Given the description of an element on the screen output the (x, y) to click on. 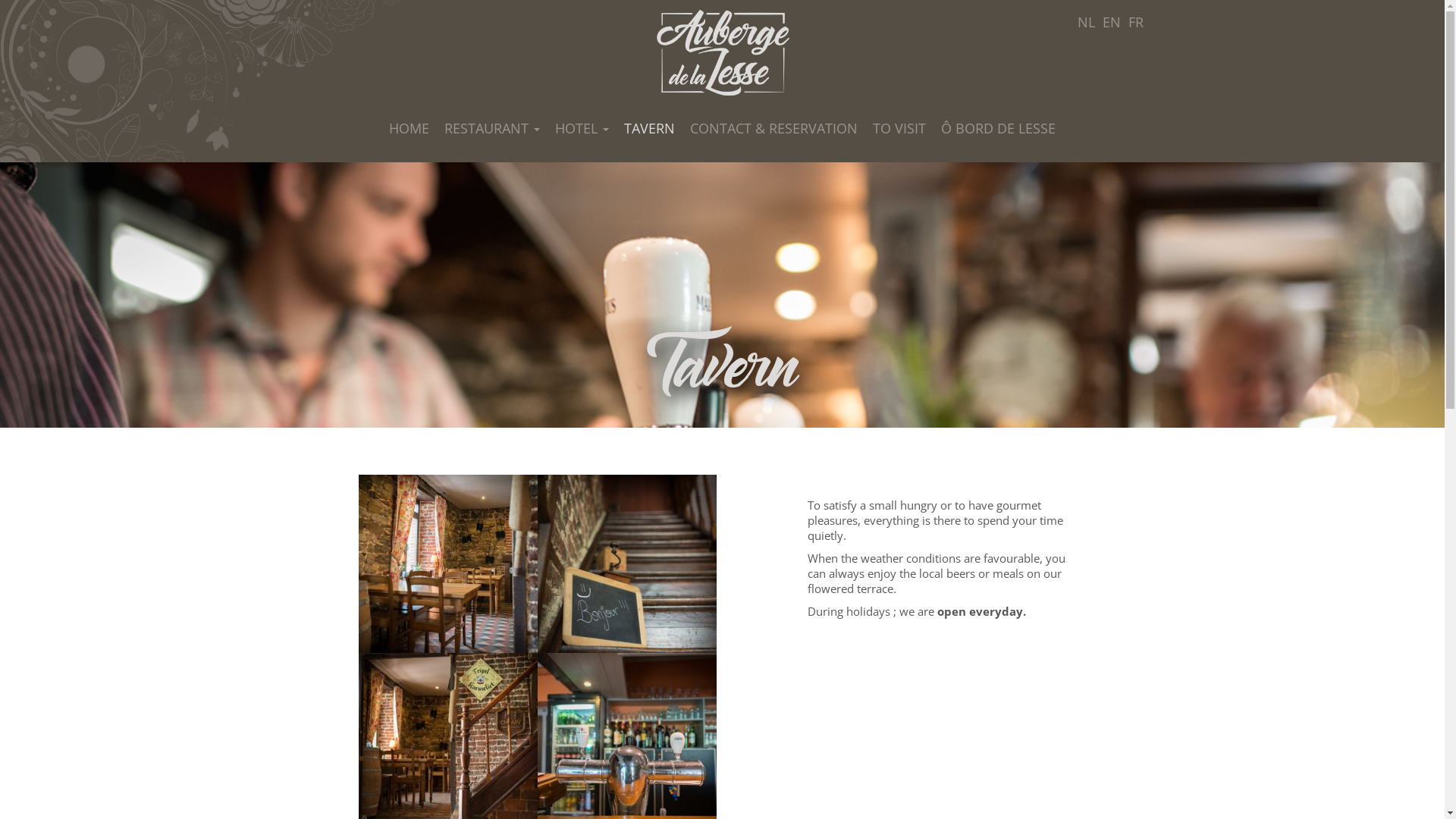
EN Element type: text (1110, 21)
TAVERN Element type: text (649, 128)
HOME Element type: text (408, 128)
TO VISIT Element type: text (899, 128)
NL Element type: text (1085, 21)
RESTAURANT Element type: text (491, 128)
CONTACT & RESERVATION Element type: text (773, 128)
FR Element type: text (1134, 21)
HOTEL Element type: text (581, 128)
